Given the description of an element on the screen output the (x, y) to click on. 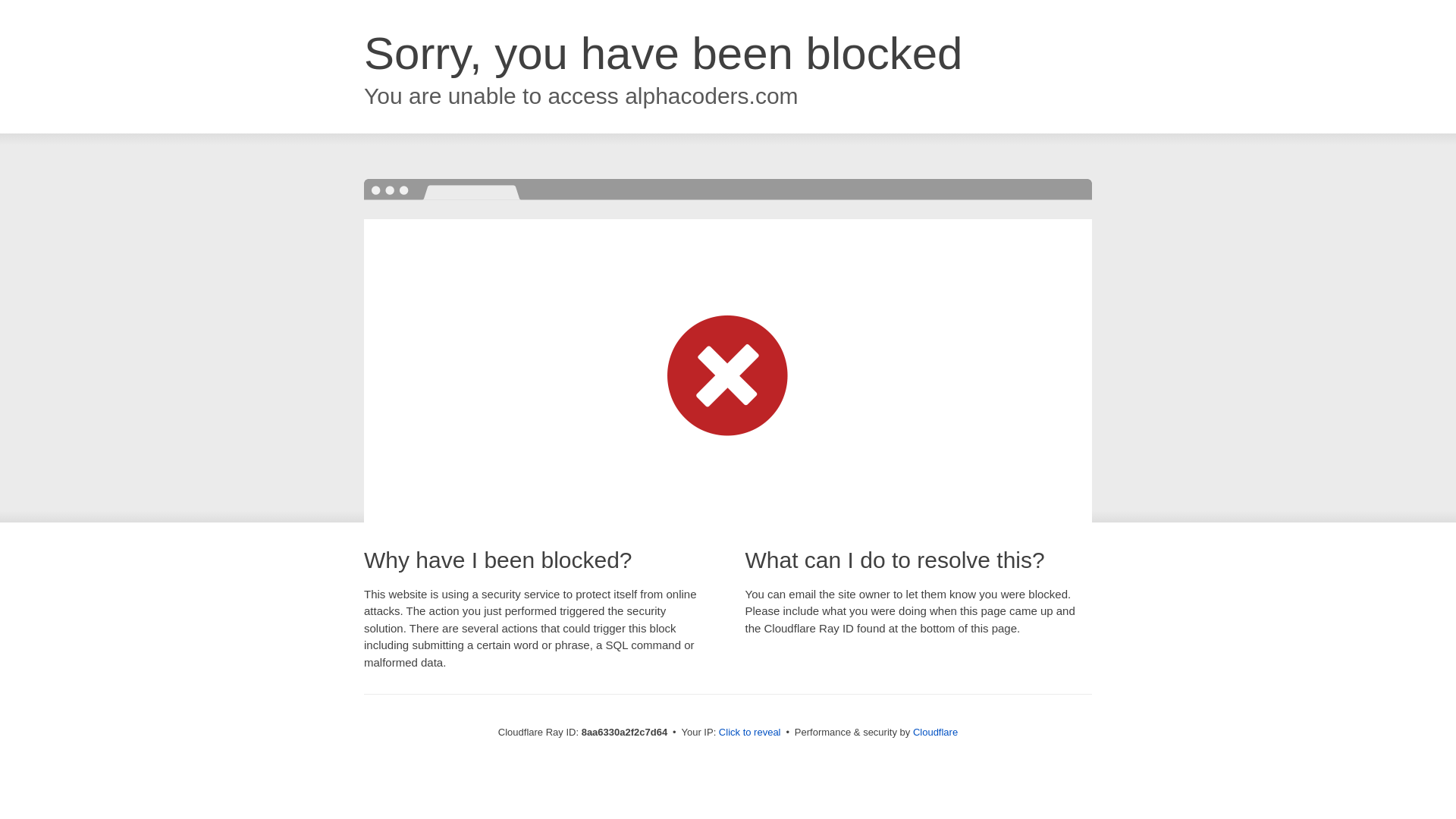
Cloudflare (935, 731)
Click to reveal (749, 732)
